Given the description of an element on the screen output the (x, y) to click on. 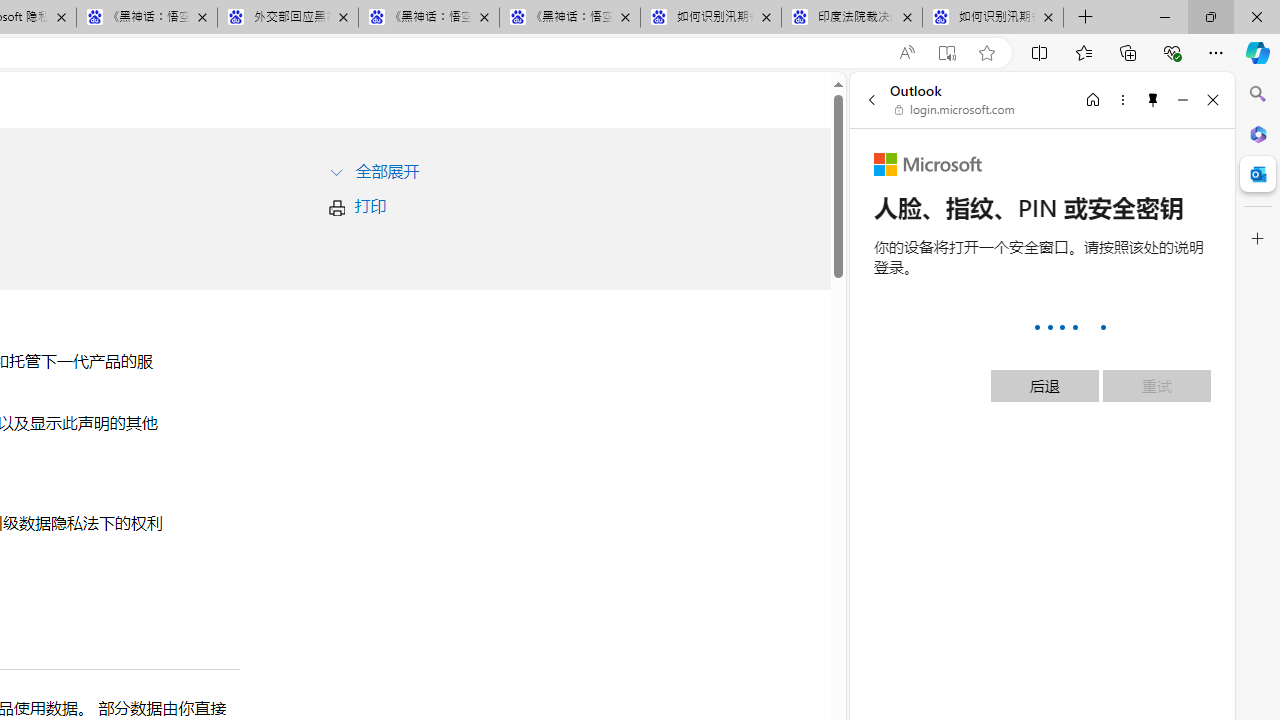
Microsoft (927, 164)
